Given the description of an element on the screen output the (x, y) to click on. 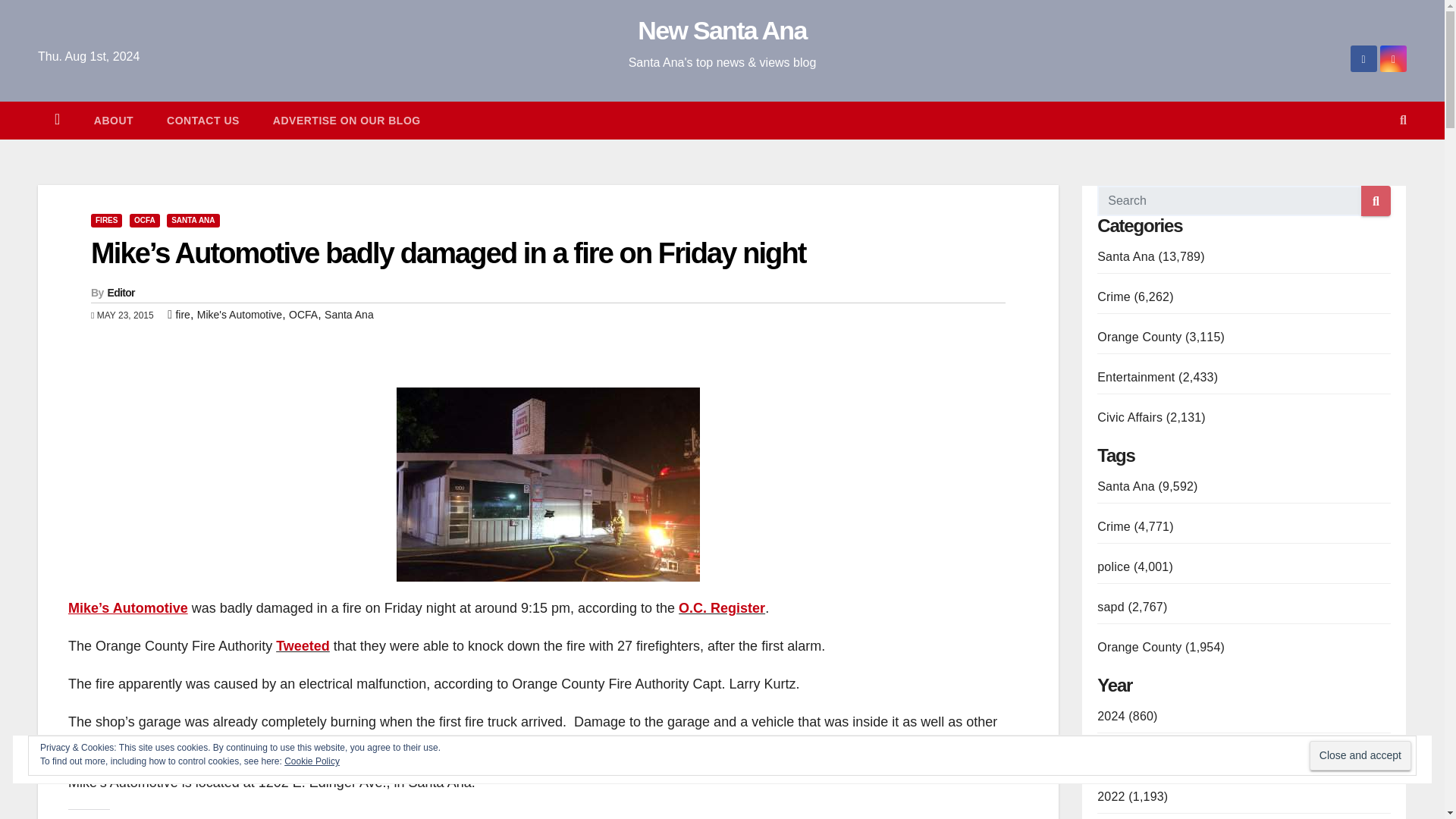
Tweeted (303, 645)
Editor (121, 292)
OCFA (302, 314)
FIRES (106, 220)
fire (181, 314)
Advertise on our blog (347, 120)
O.C. Register (721, 607)
New Santa Ana (721, 30)
OCFA (144, 220)
ADVERTISE ON OUR BLOG (347, 120)
About (113, 120)
Home (57, 120)
SANTA ANA (193, 220)
Contact Us (202, 120)
Mike's Automotive (239, 314)
